Given the description of an element on the screen output the (x, y) to click on. 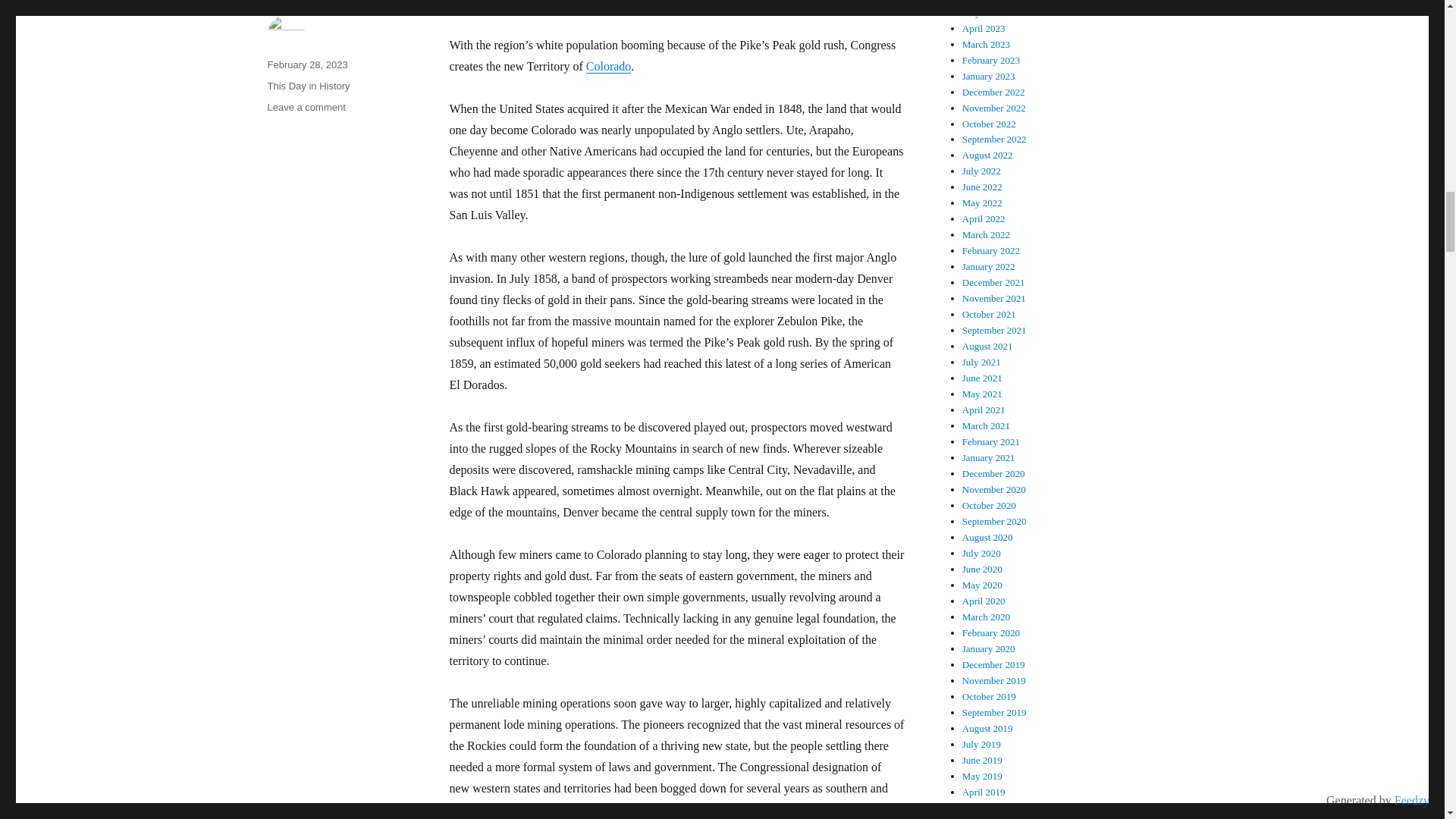
Colorado (608, 65)
February 28, 2023 (306, 64)
This Day in History (305, 107)
